Given the description of an element on the screen output the (x, y) to click on. 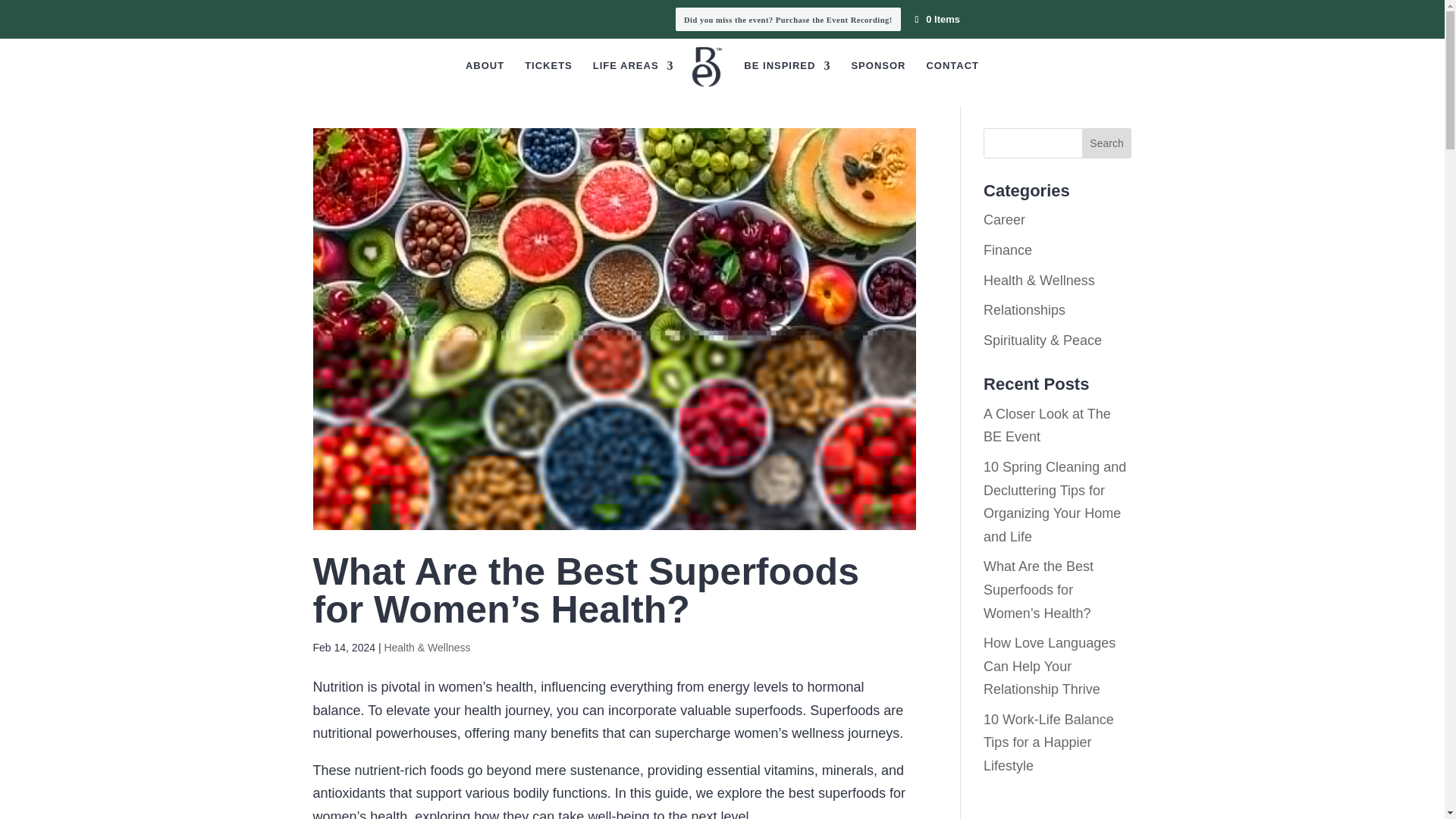
CONTACT (952, 83)
SPONSOR (877, 83)
Finance (1008, 249)
Search (1106, 142)
Did you miss the event? Purchase the Event Recording! (788, 19)
LIFE AREAS (633, 83)
0 Items (935, 19)
TICKETS (548, 83)
Career (1004, 219)
Relationships (1024, 309)
Search (1106, 142)
BE INSPIRED (786, 83)
